Given the description of an element on the screen output the (x, y) to click on. 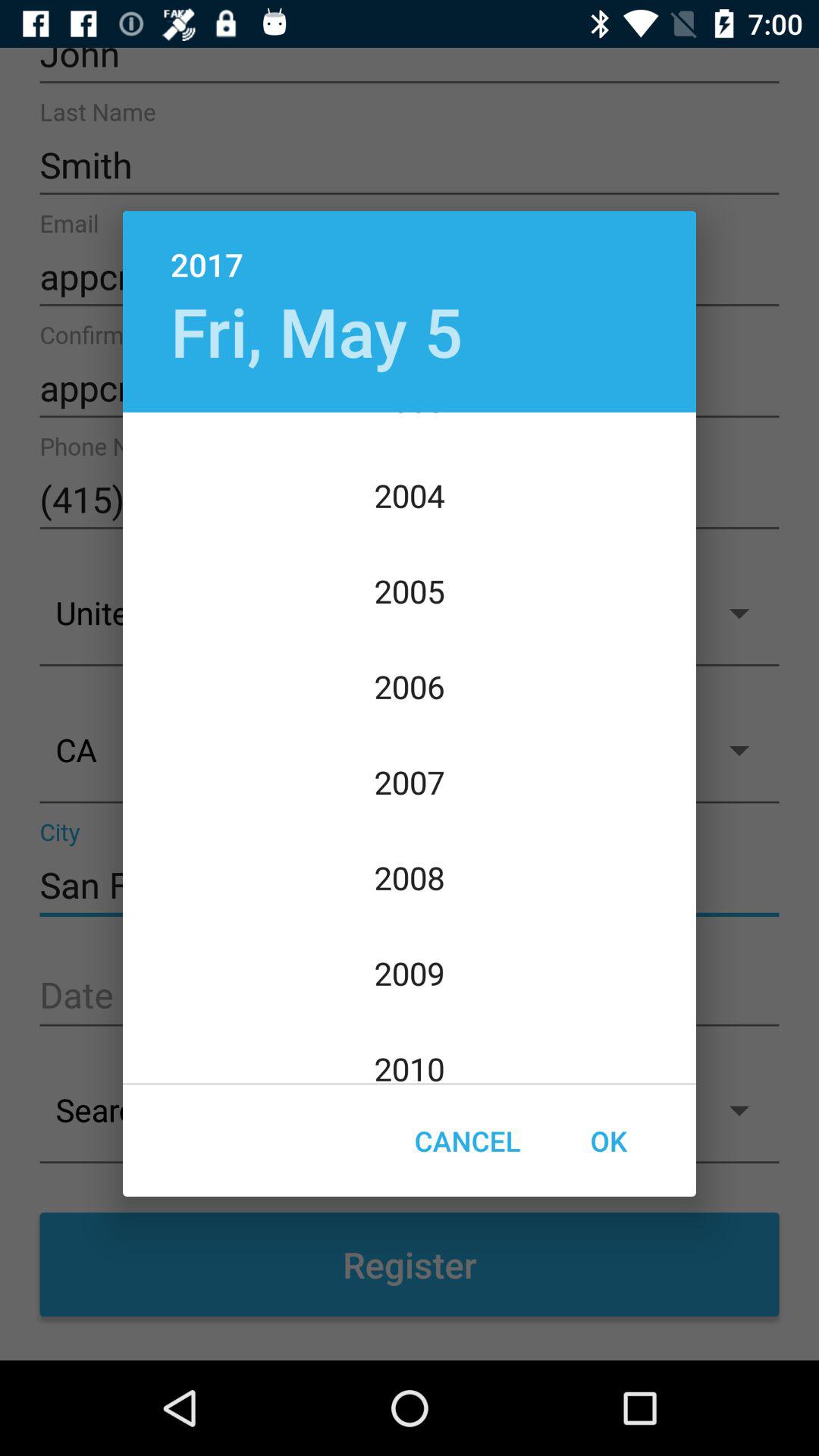
open icon below the 2017 icon (316, 331)
